Given the description of an element on the screen output the (x, y) to click on. 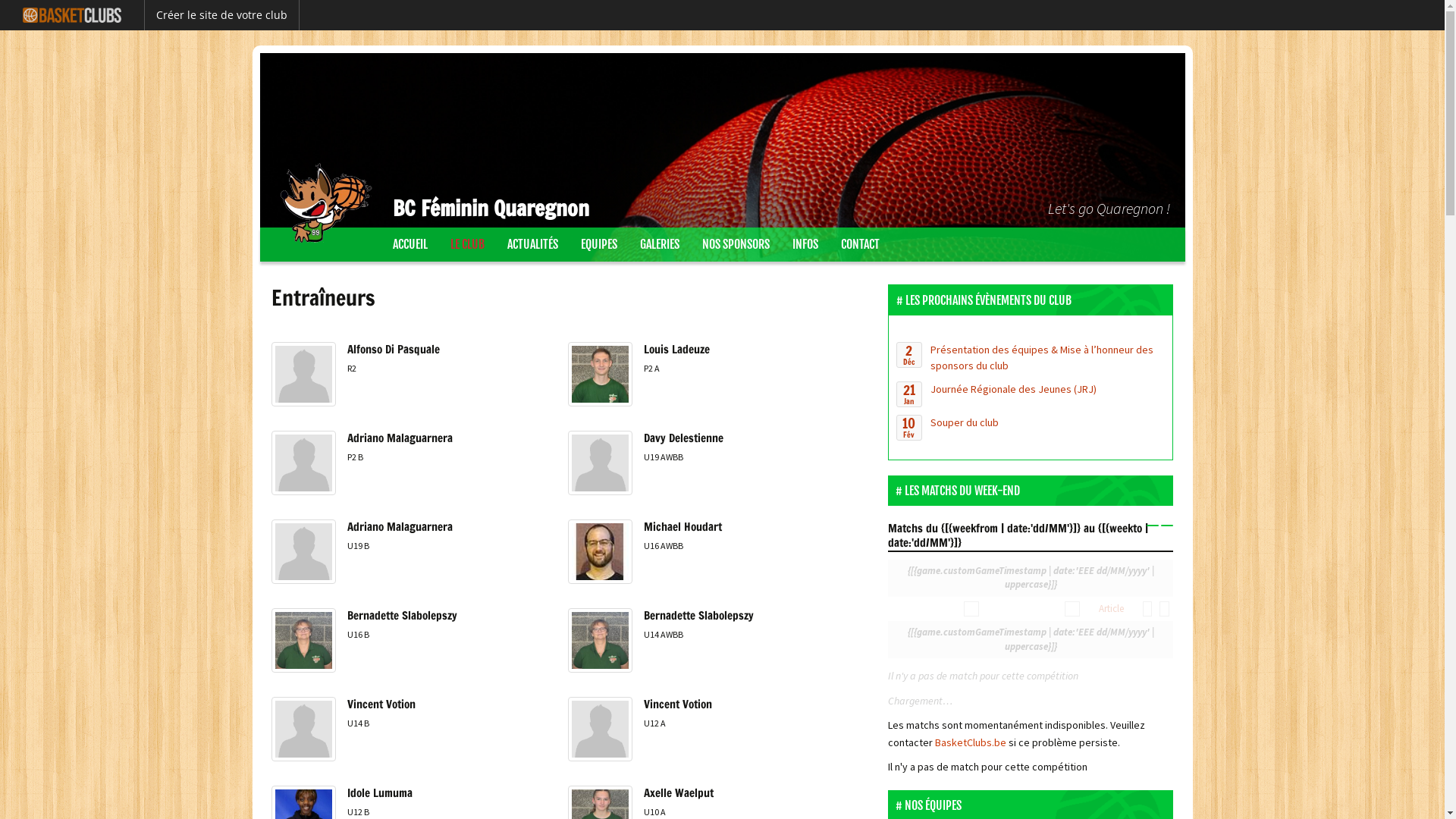
Michael Houdart (U16 AWBB) Element type: hover (599, 575)
Bernadette Slabolepszy (U14 AWBB) Element type: hover (599, 664)
CONTACT Element type: text (860, 244)
NOS SPONSORS Element type: text (735, 244)
Bernadette Slabolepszy (U16 B) Element type: hover (303, 664)
GALERIES Element type: text (658, 244)
ACCUEIL Element type: text (409, 244)
EQUIPES Element type: text (597, 244)
BasketClubs.be Element type: text (971, 742)
INFOS Element type: text (805, 244)
Louis Ladeuze (P2 A) Element type: hover (599, 398)
Article Element type: text (1110, 608)
LE CLUB Element type: text (466, 244)
Passer au contenu Element type: text (303, 236)
